Given the description of an element on the screen output the (x, y) to click on. 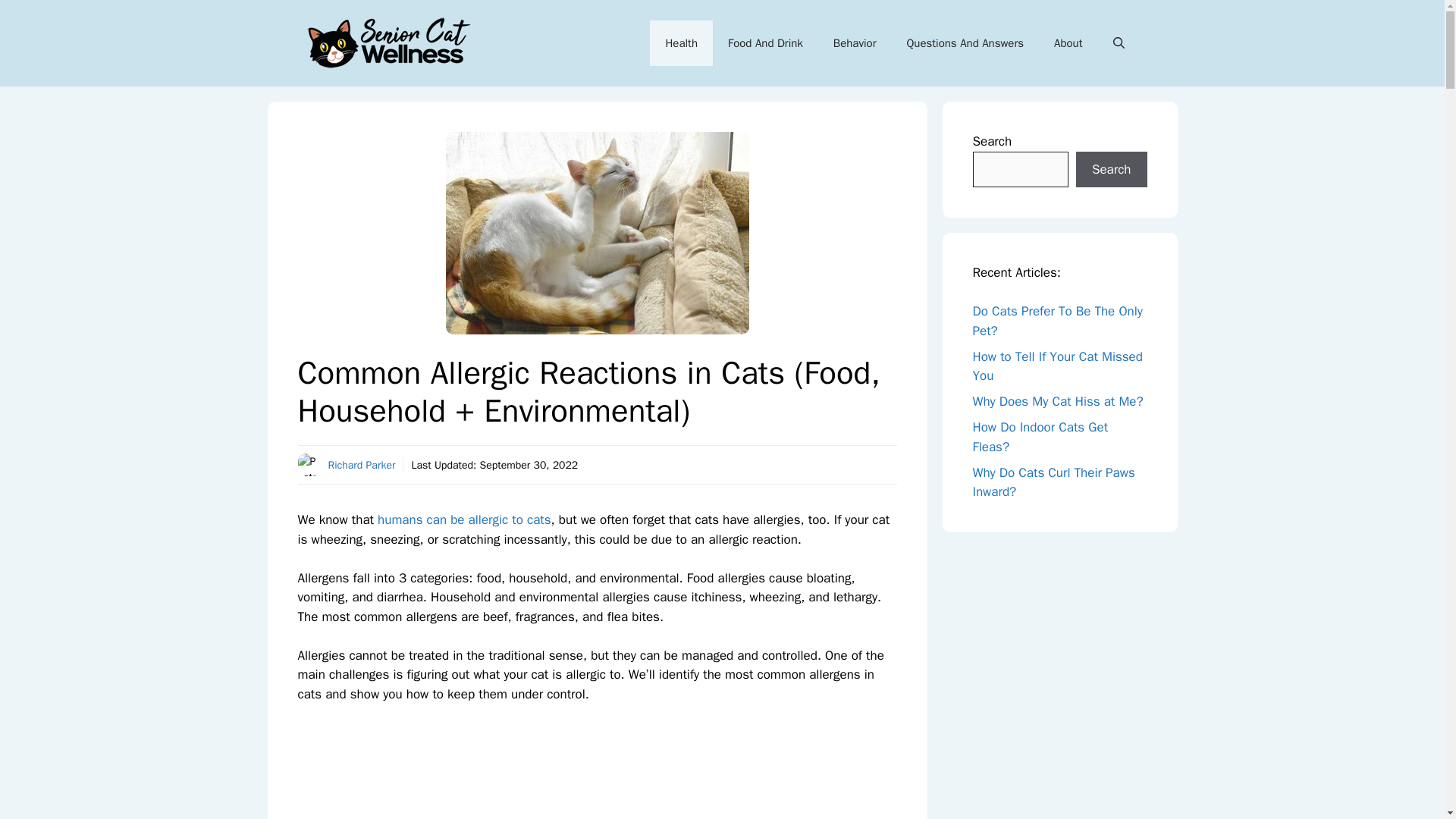
Food And Drink (765, 43)
humans can be allergic to cats (464, 519)
About (1068, 43)
Richard Parker (360, 464)
Questions And Answers (965, 43)
Behavior (854, 43)
Health (681, 43)
